Given the description of an element on the screen output the (x, y) to click on. 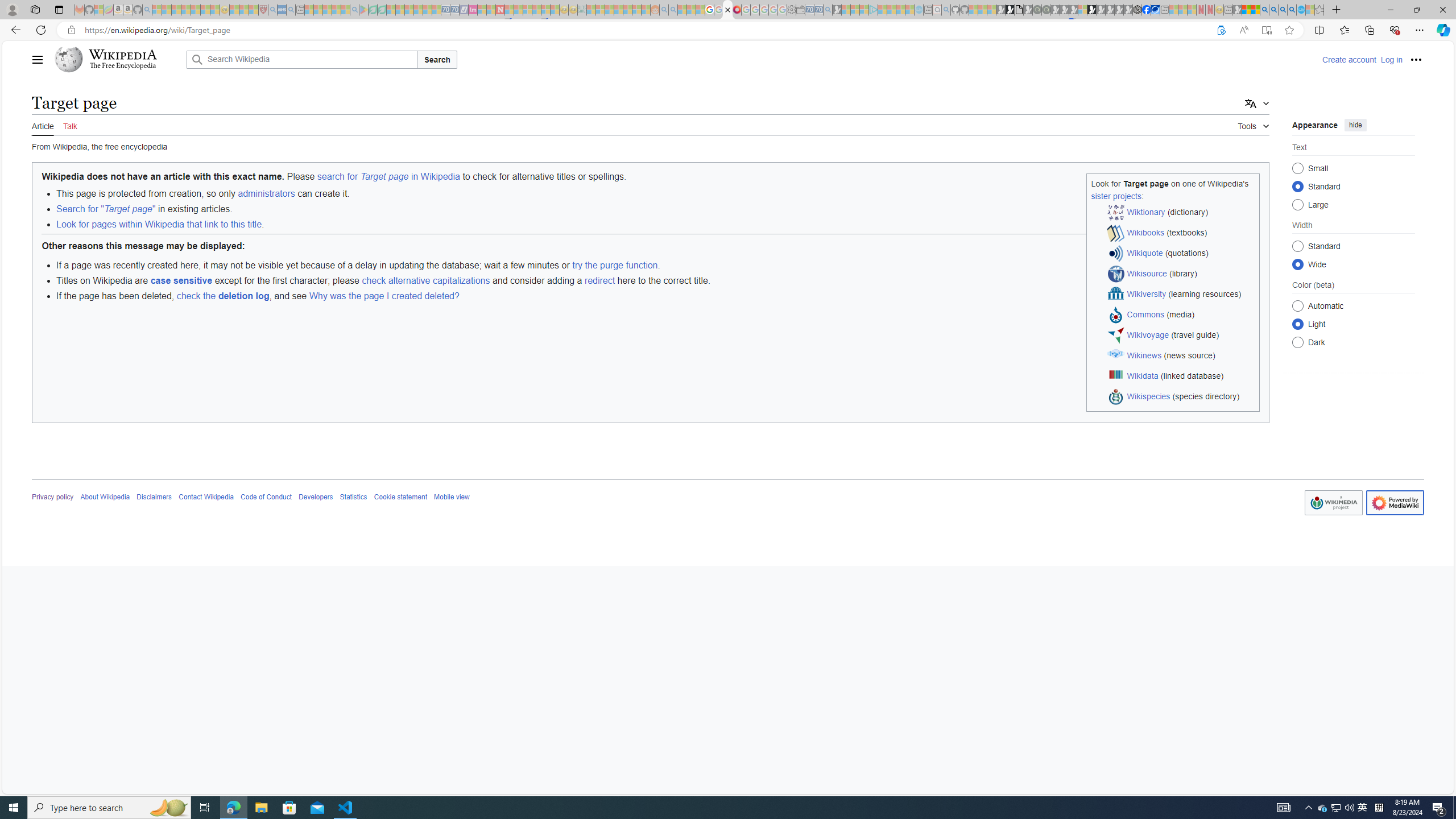
Wikinews (1143, 355)
github - Search - Sleeping (945, 9)
Utah sues federal government - Search - Sleeping (672, 9)
About Wikipedia (104, 497)
Nordace | Facebook (1146, 9)
Wikimedia Foundation (1333, 502)
